Given the description of an element on the screen output the (x, y) to click on. 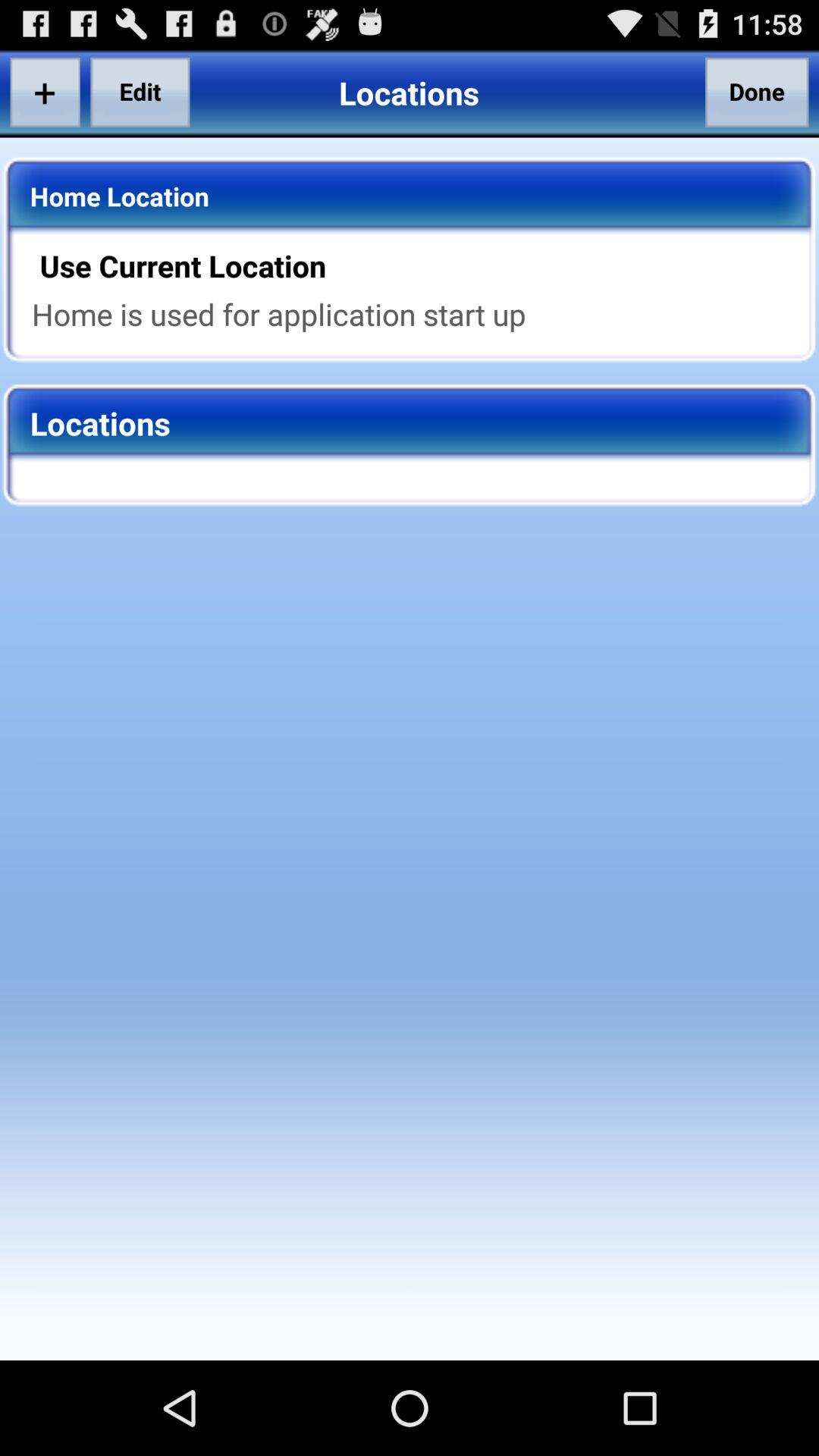
turn on the item to the right of + item (139, 92)
